Given the description of an element on the screen output the (x, y) to click on. 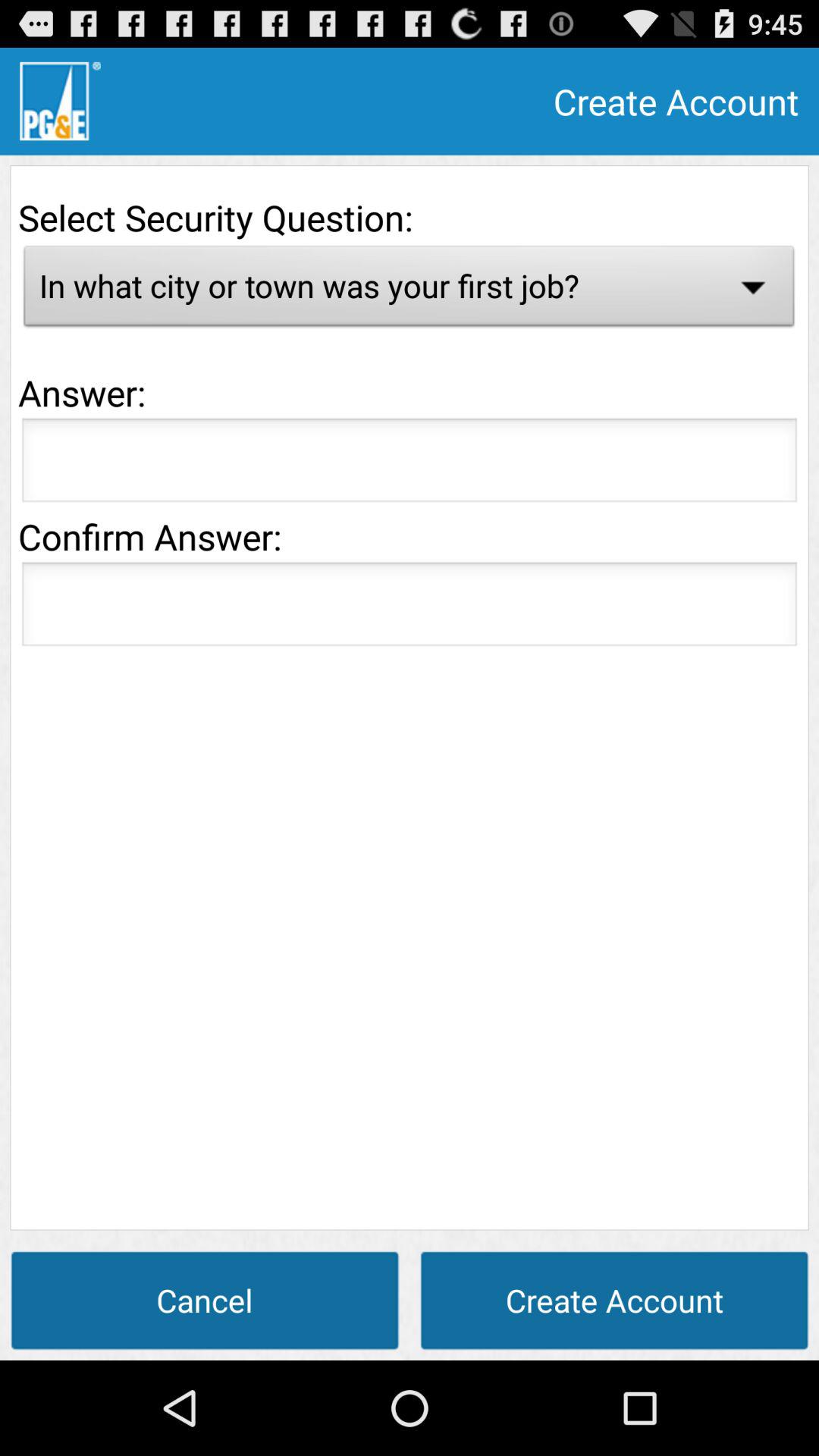
enter information (409, 608)
